Given the description of an element on the screen output the (x, y) to click on. 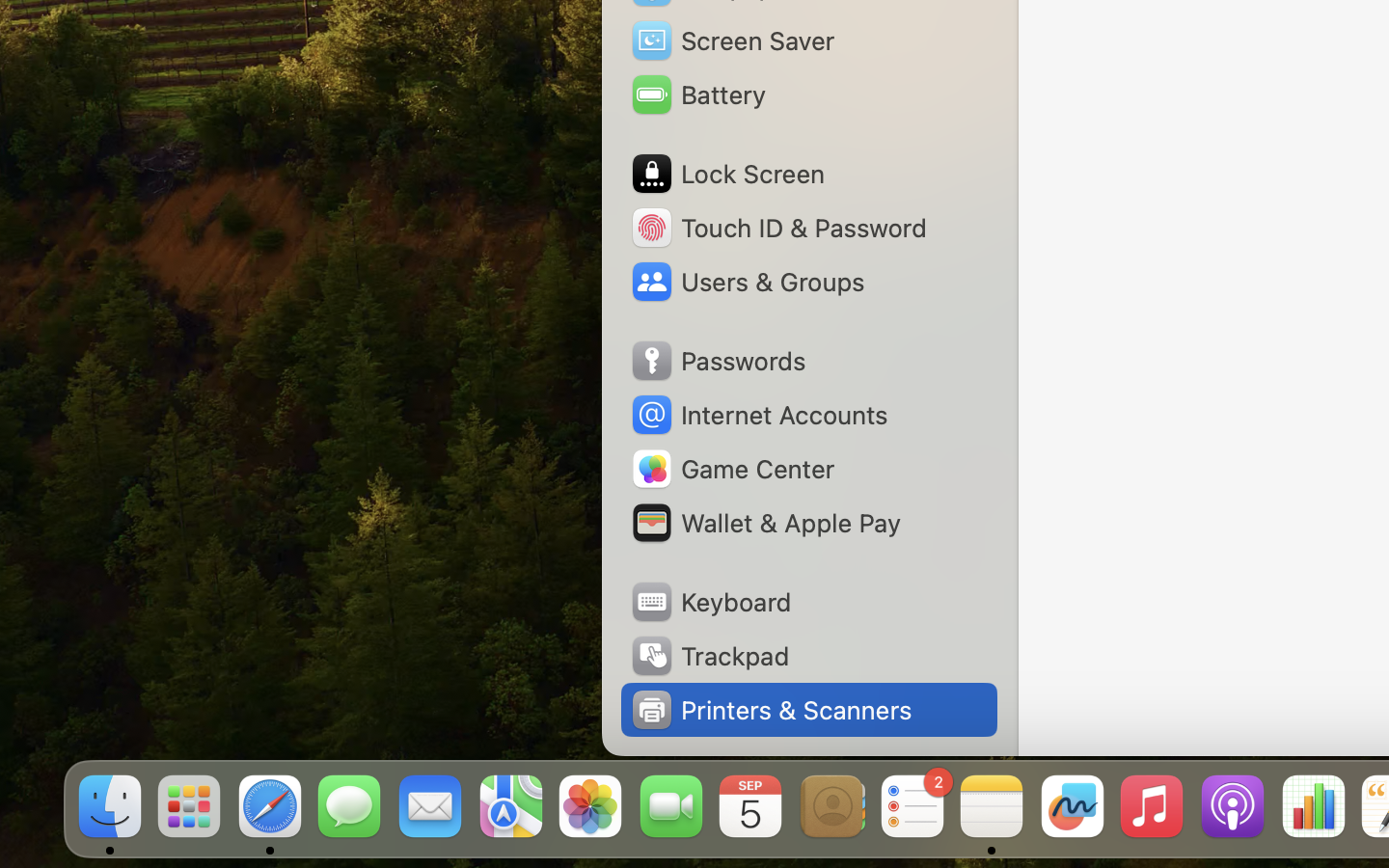
Wallet & Apple Pay Element type: AXStaticText (764, 522)
Users & Groups Element type: AXStaticText (746, 281)
Passwords Element type: AXStaticText (717, 360)
Game Center Element type: AXStaticText (731, 468)
Internet Accounts Element type: AXStaticText (757, 414)
